Given the description of an element on the screen output the (x, y) to click on. 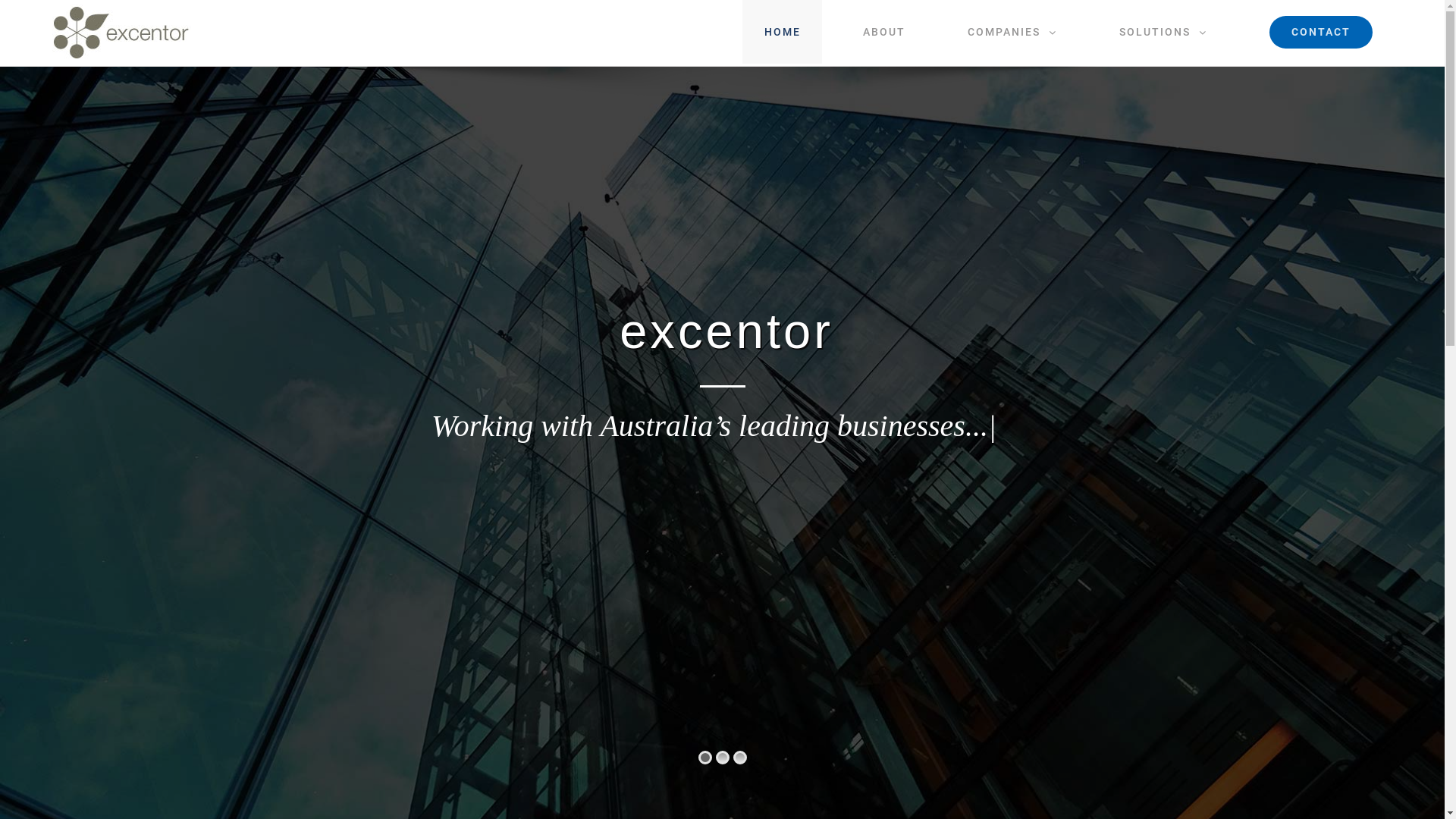
COMPANIES Element type: text (1011, 31)
SOLUTIONS Element type: text (1162, 31)
CONTACT Element type: text (1320, 31)
HOME Element type: text (782, 31)
ABOUT Element type: text (883, 31)
